Given the description of an element on the screen output the (x, y) to click on. 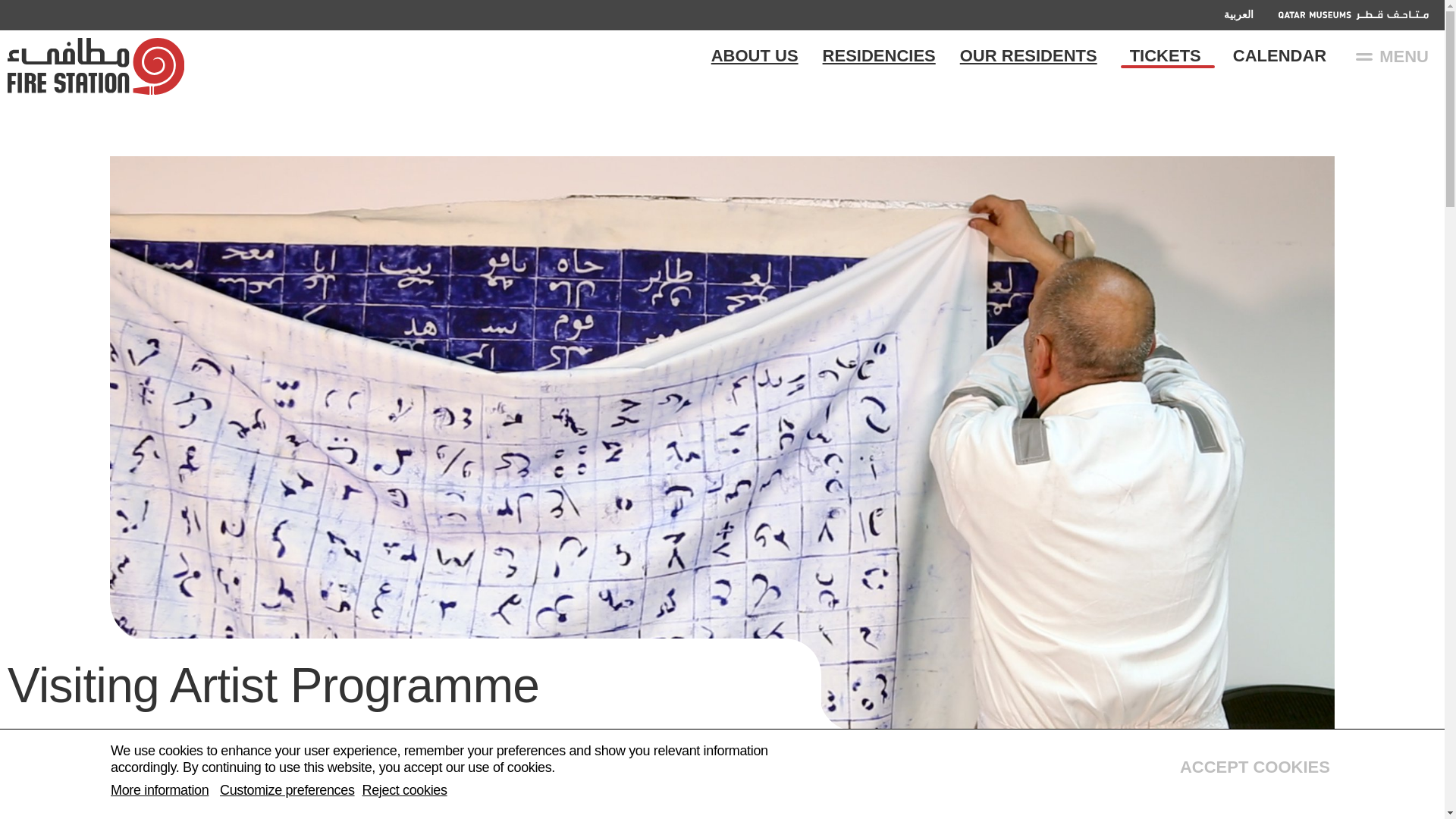
RESIDENCIES (879, 55)
CALENDAR (1279, 52)
ABOUT US (754, 55)
MENU (1391, 56)
TICKETS (1165, 52)
OUR RESIDENTS (1028, 55)
